Given the description of an element on the screen output the (x, y) to click on. 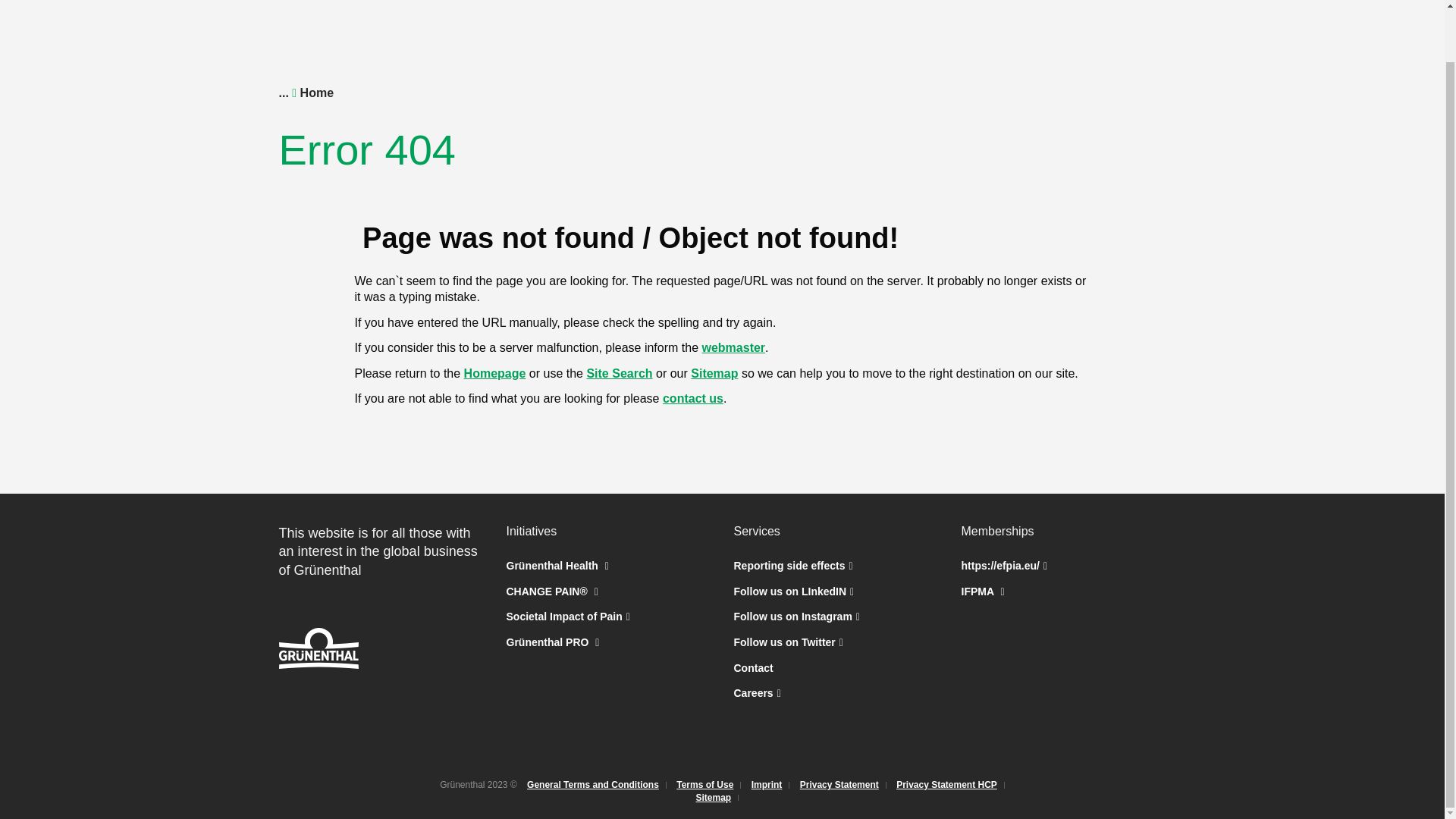
Home (316, 93)
